Given the description of an element on the screen output the (x, y) to click on. 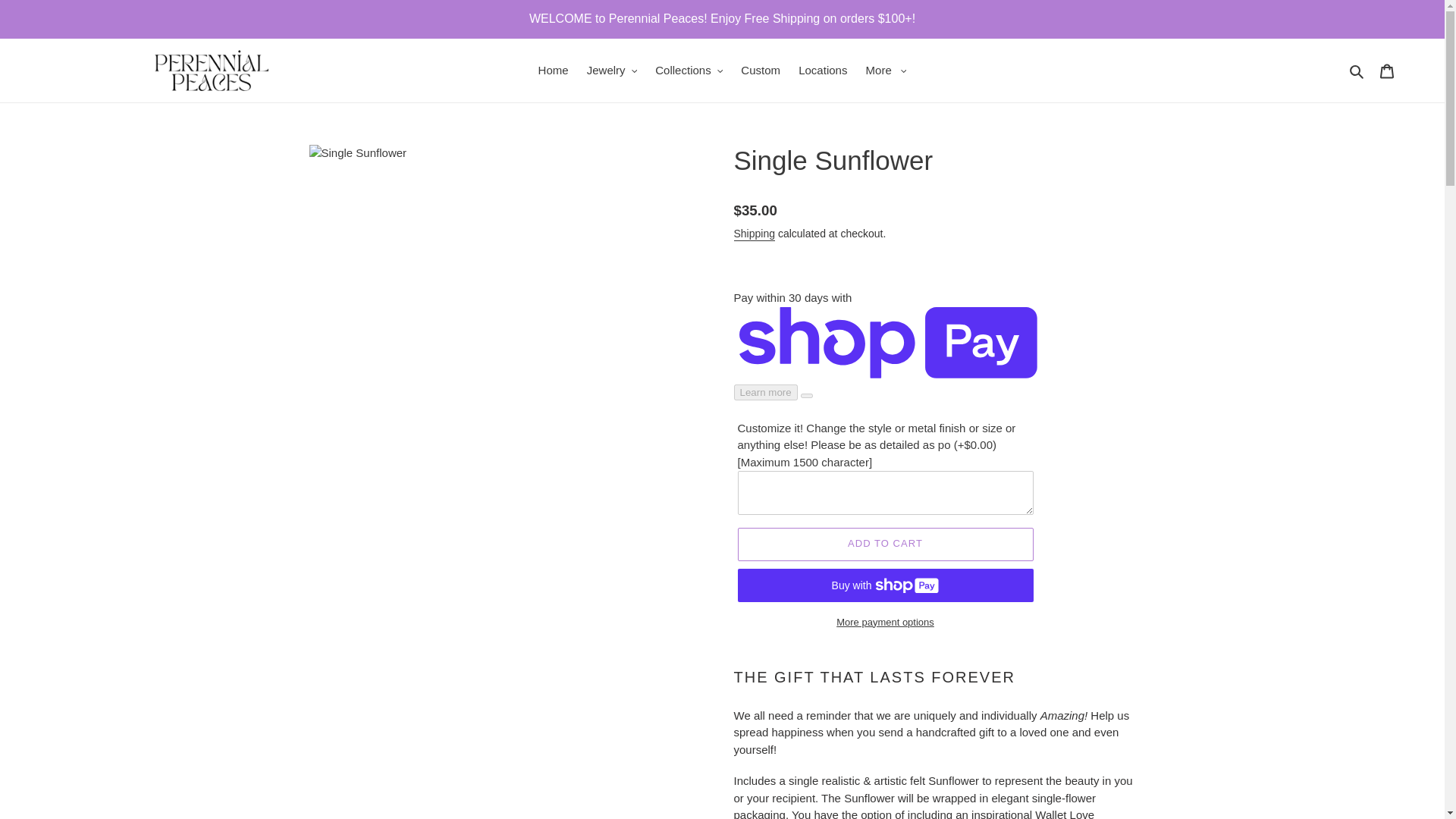
Home (553, 70)
Collections (688, 70)
Search (1357, 70)
Custom (760, 70)
Jewelry (612, 70)
Locations (822, 70)
Cart (1387, 70)
More (886, 70)
